Given the description of an element on the screen output the (x, y) to click on. 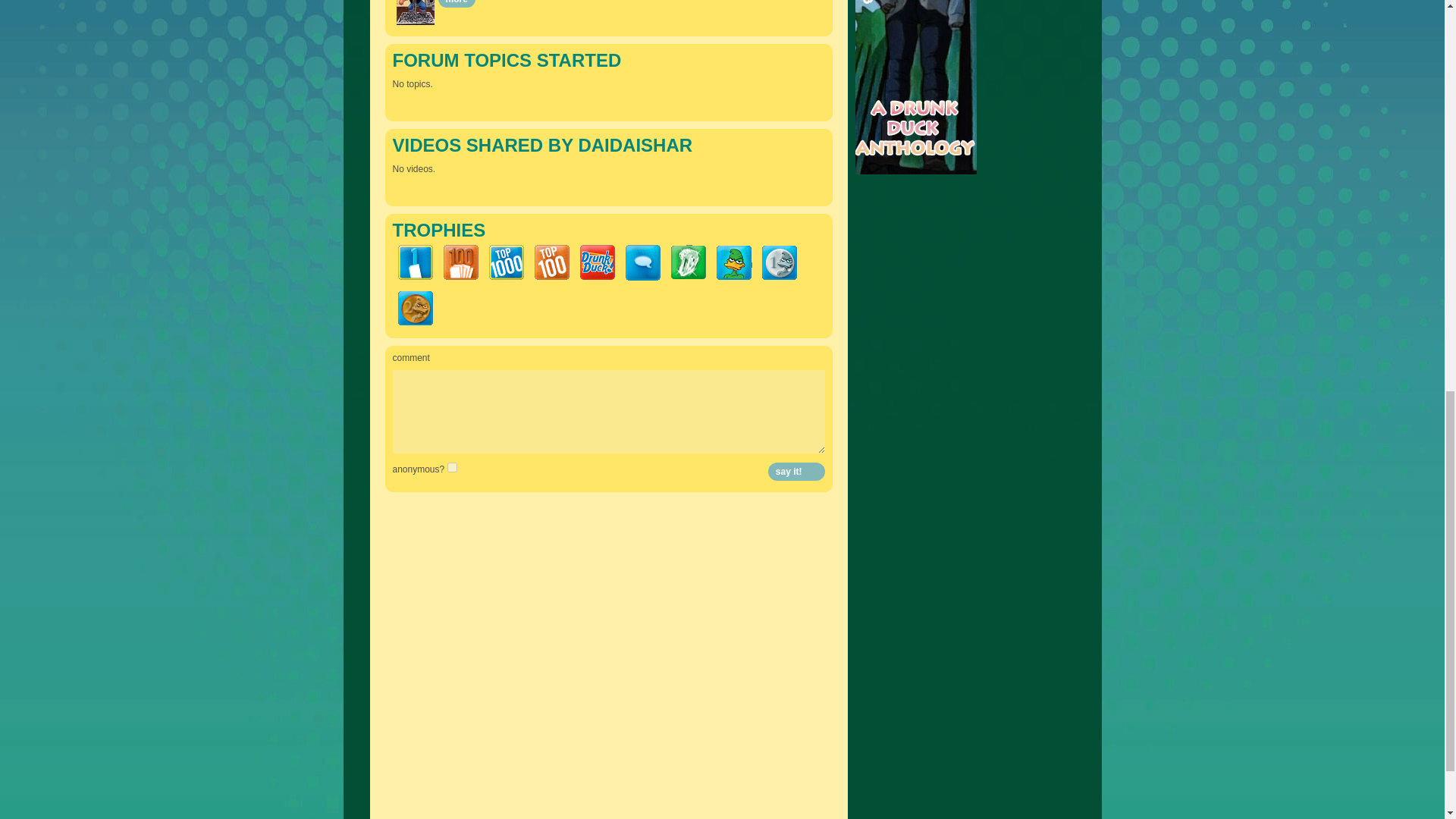
1 (451, 467)
reconjsh (414, 12)
say it! (796, 471)
